Given the description of an element on the screen output the (x, y) to click on. 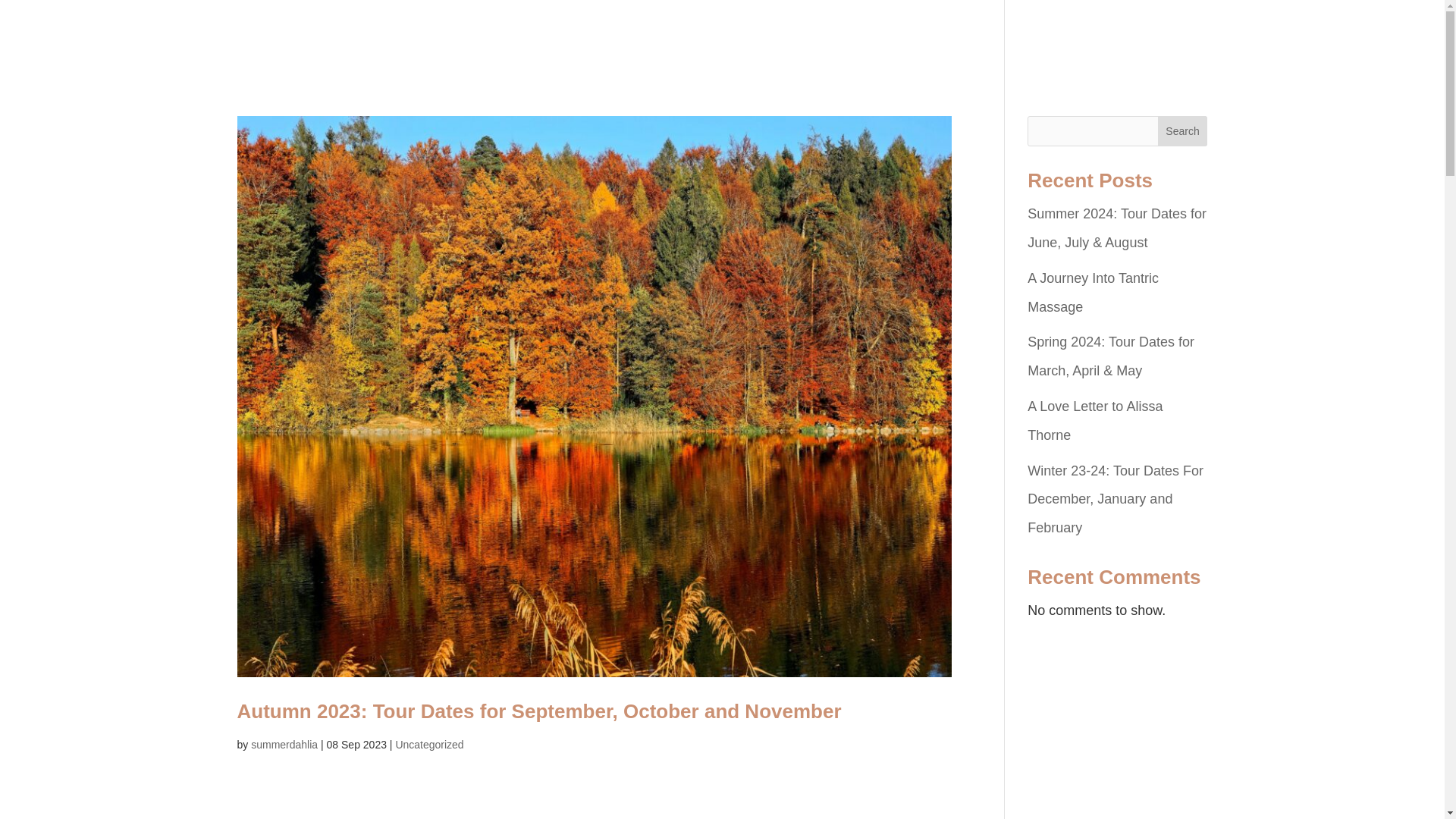
RATES (802, 58)
GALLERY (622, 58)
GIFTS (868, 58)
LINKS (1185, 58)
Uncategorized (428, 744)
Search (1182, 131)
WELCOME (435, 58)
LOCATIONS (716, 58)
A Journey Into Tantric Massage (1092, 292)
BLOG (1124, 58)
ABOUT ME (530, 58)
A Love Letter to Alissa Thorne (1094, 420)
CONTACT (1050, 58)
Posts by summerdahlia (283, 744)
Winter 23-24: Tour Dates For December, January and February (1115, 499)
